Given the description of an element on the screen output the (x, y) to click on. 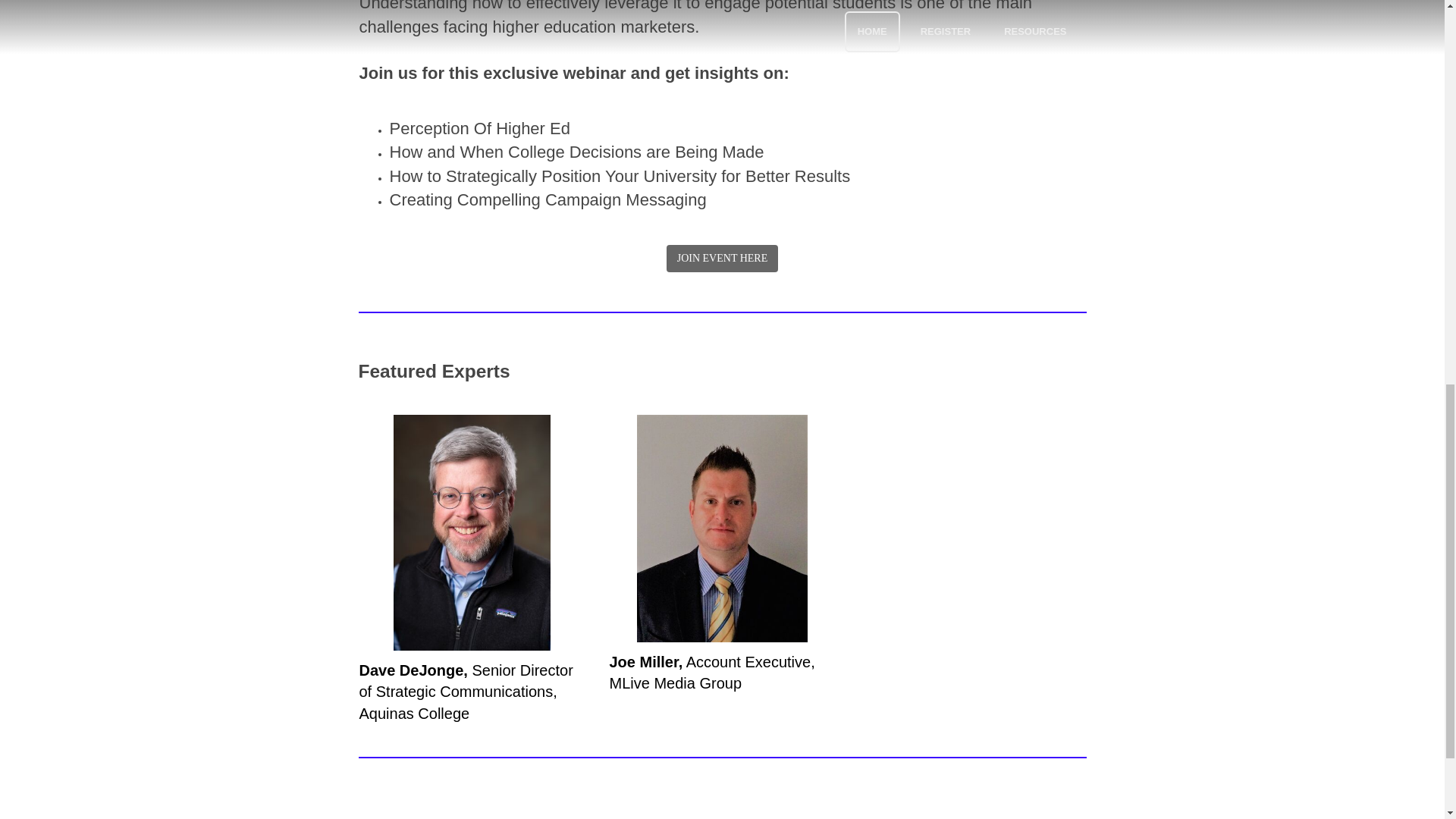
JOIN EVENT HERE (722, 257)
Joe Miller, Account Executive, MLive Media Group (710, 672)
